Given the description of an element on the screen output the (x, y) to click on. 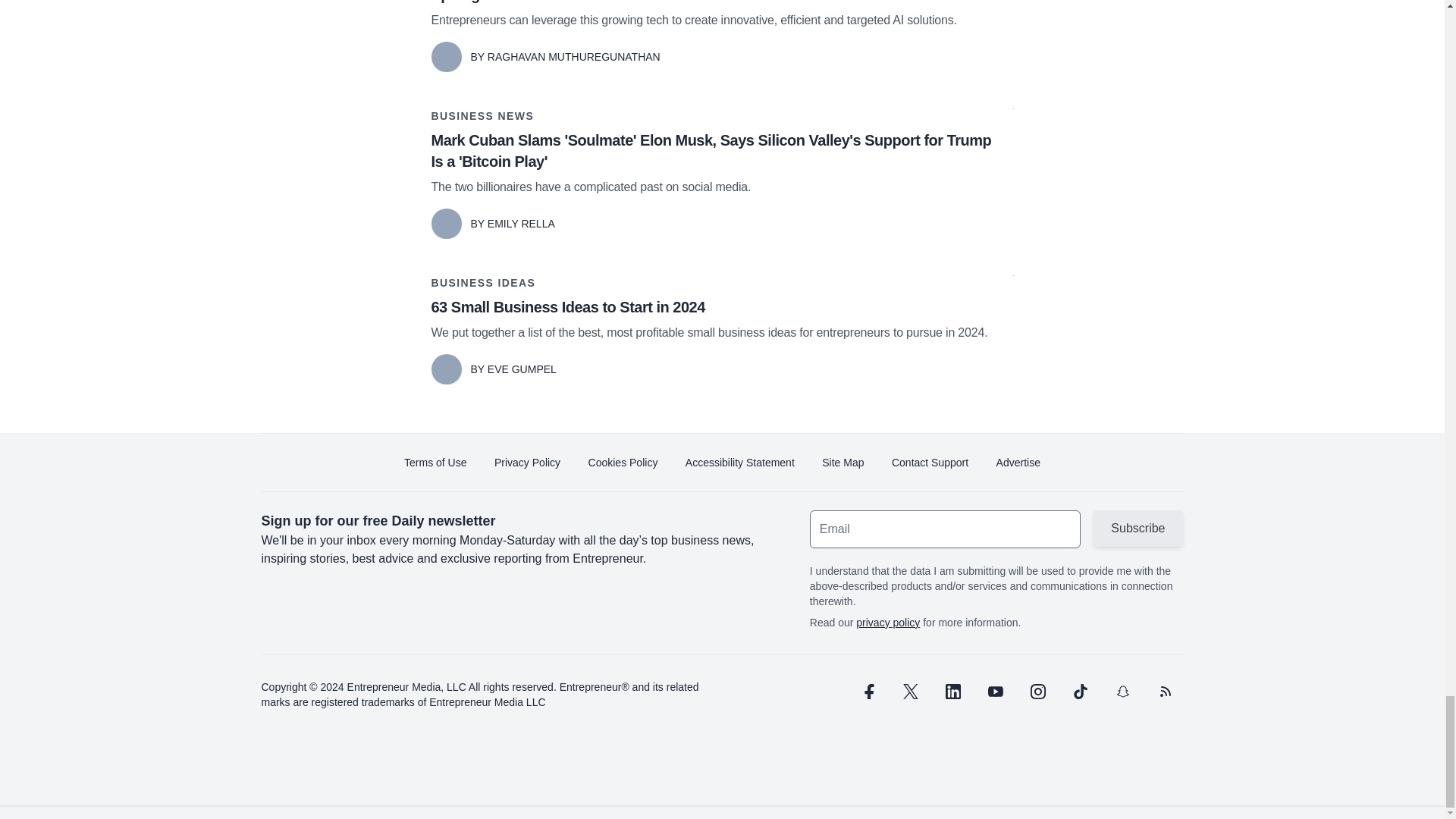
youtube (994, 691)
facebook (866, 691)
rss (1164, 691)
twitter (909, 691)
instagram (1037, 691)
tiktok (1079, 691)
snapchat (1121, 691)
linkedin (952, 691)
